Given the description of an element on the screen output the (x, y) to click on. 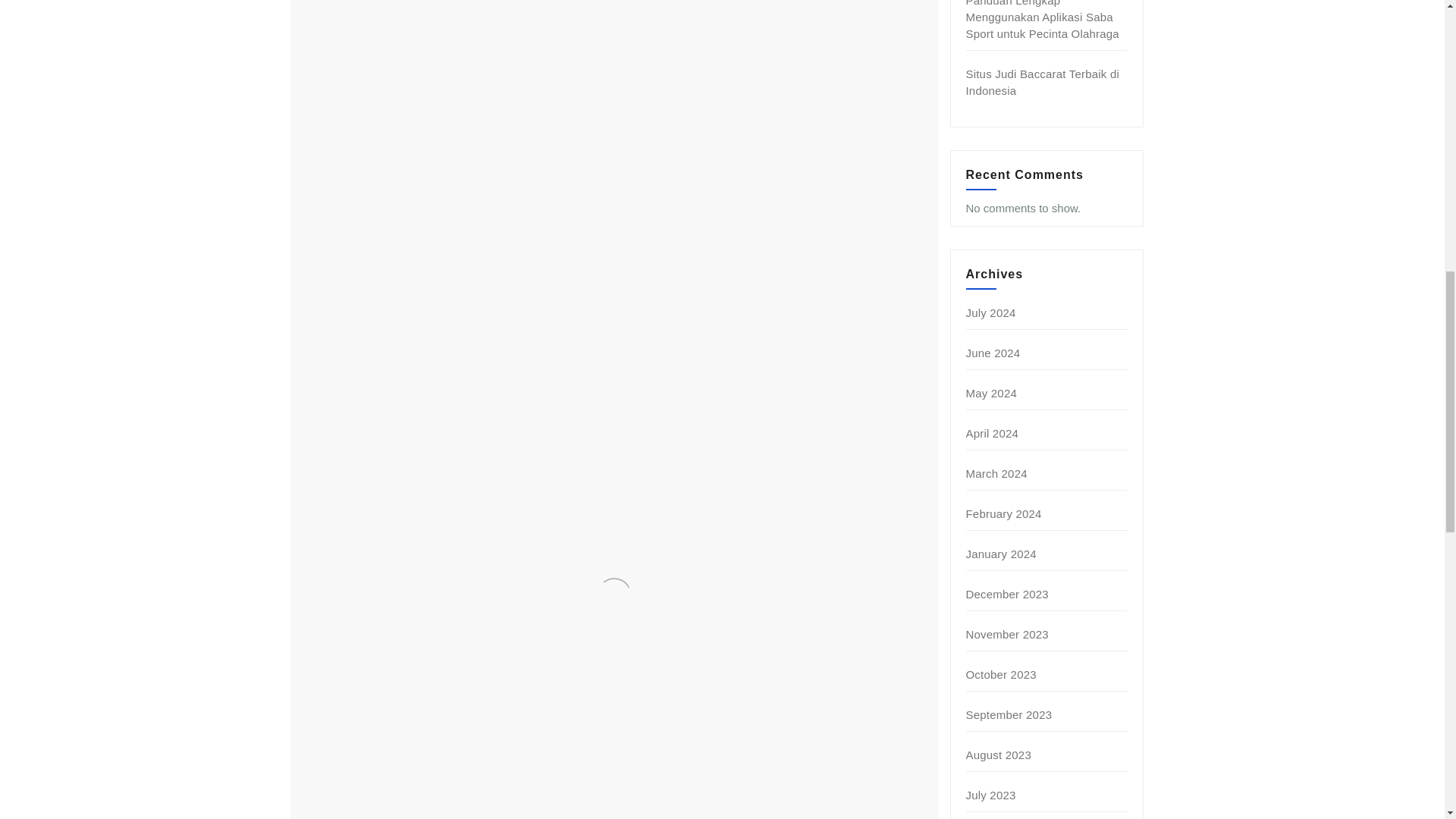
December 2023 (1007, 594)
April 2024 (992, 432)
February 2024 (1004, 513)
Situs Judi Baccarat Terbaik di Indonesia (1042, 82)
October 2023 (1001, 674)
January 2024 (1001, 553)
March 2024 (996, 472)
July 2024 (991, 312)
November 2023 (1007, 634)
September 2023 (1009, 714)
May 2024 (991, 392)
August 2023 (998, 754)
July 2023 (991, 794)
June 2024 (993, 352)
